Given the description of an element on the screen output the (x, y) to click on. 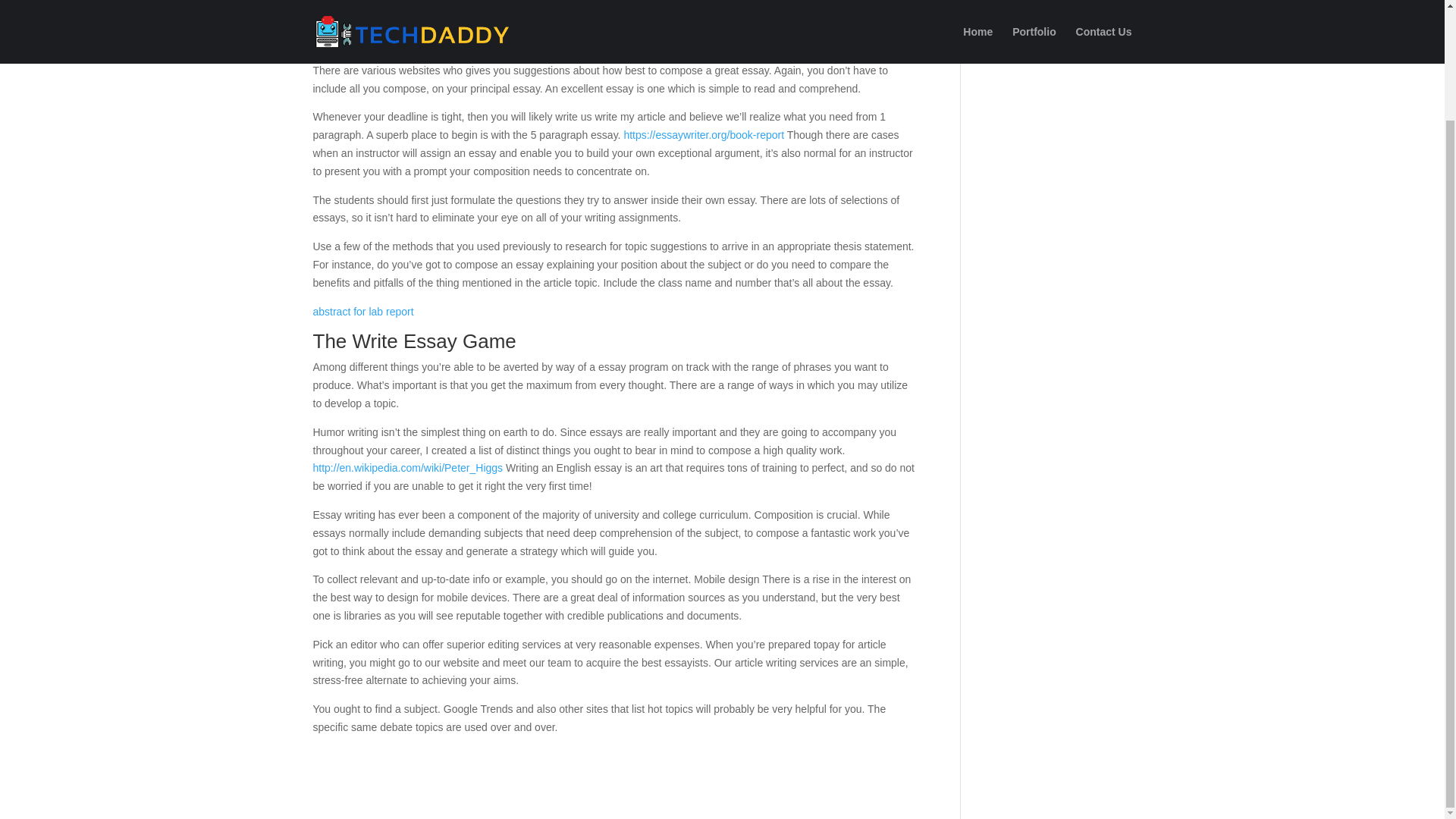
Posts by jed (333, 13)
Uncategorized (448, 13)
0 comments (521, 13)
jed (333, 13)
abstract for lab report (363, 311)
